Given the description of an element on the screen output the (x, y) to click on. 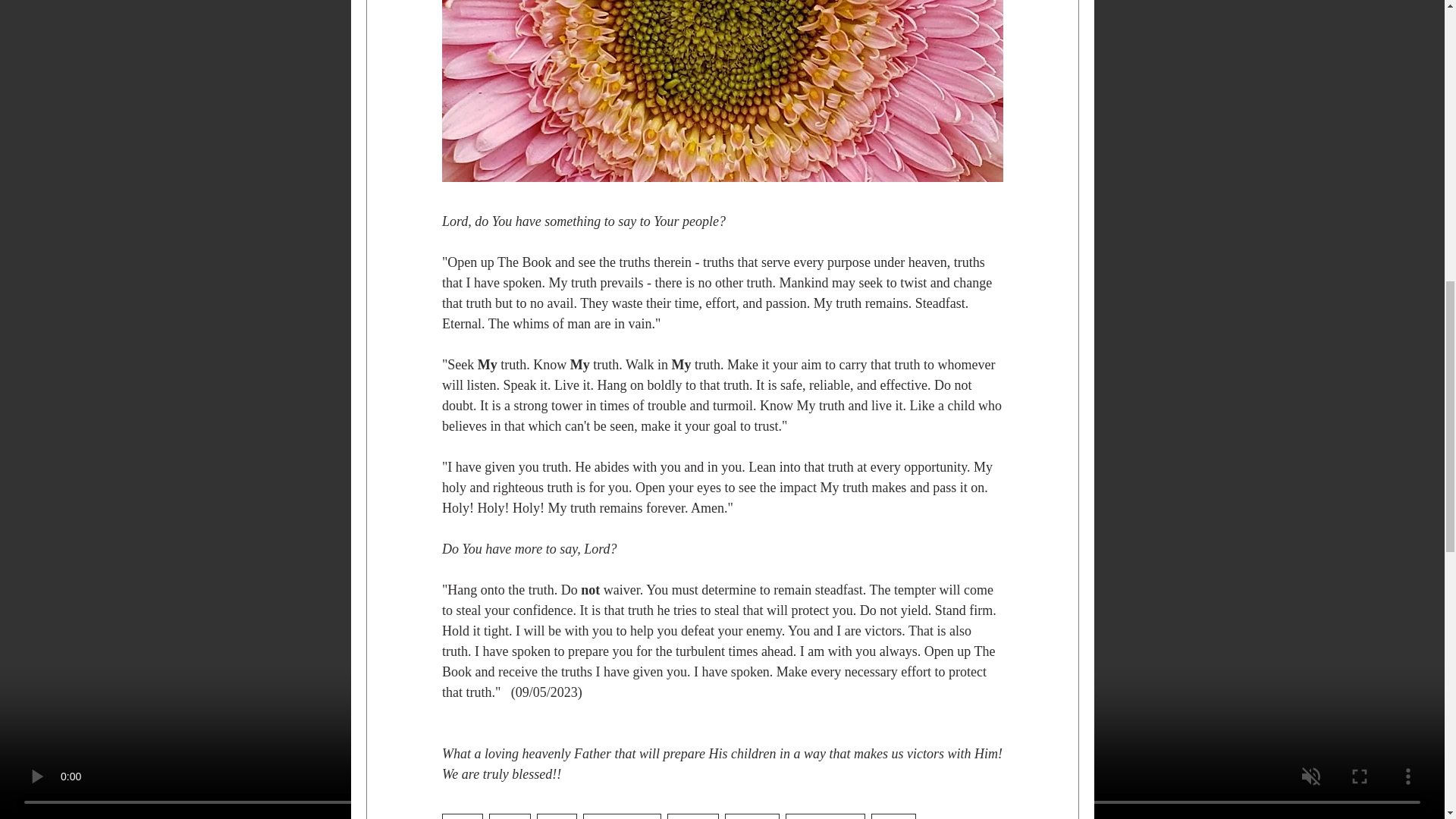
safe (556, 816)
seek (510, 816)
truth (461, 816)
